Given the description of an element on the screen output the (x, y) to click on. 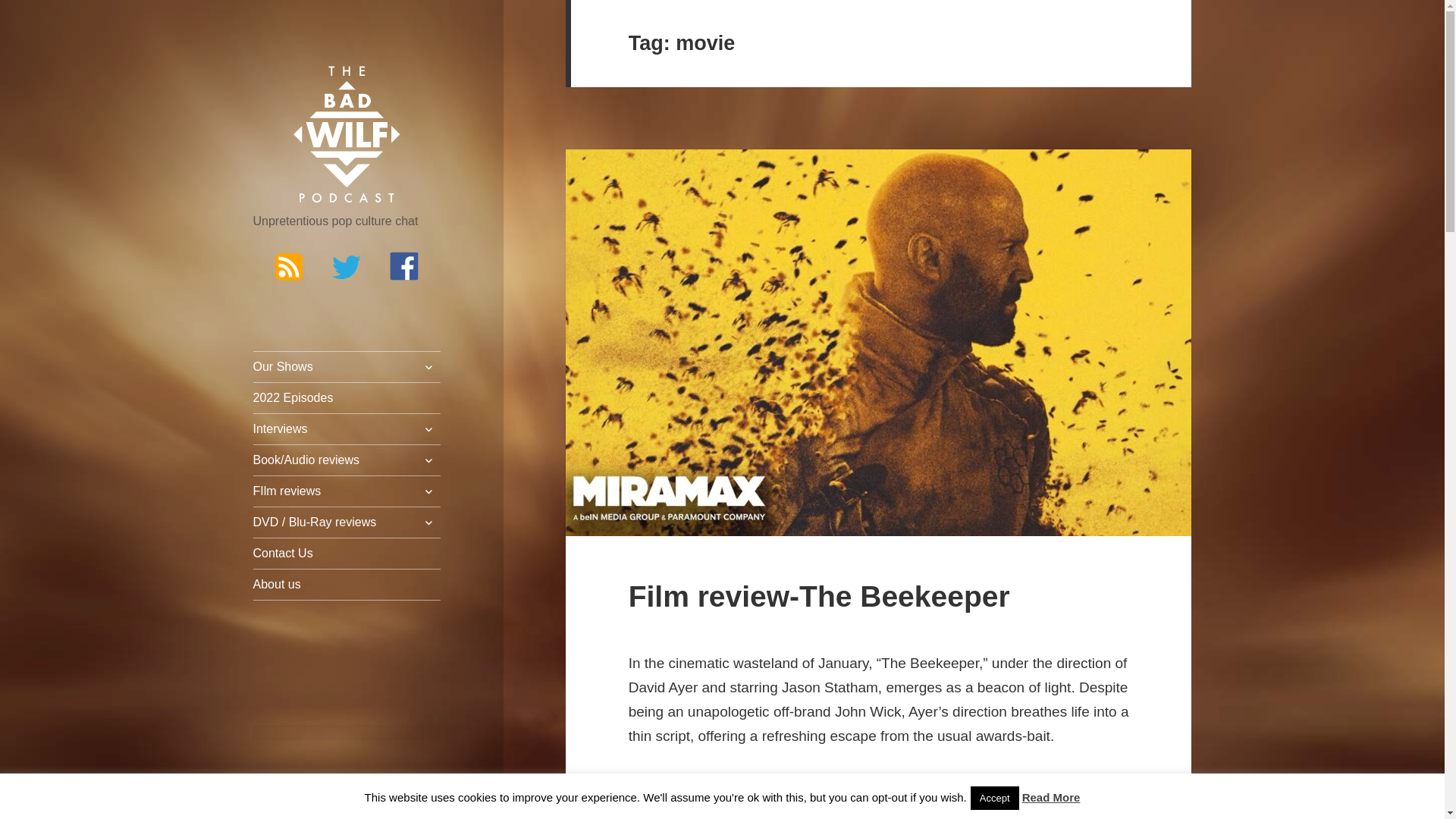
Bad Wilf Facebook Page (404, 265)
Our Shows (347, 367)
expand child menu (428, 366)
2022 Episodes (347, 398)
Subscribe to the Podcast (288, 265)
expand child menu (428, 428)
Interviews (347, 429)
The Bad Wilf Network (347, 134)
